Given the description of an element on the screen output the (x, y) to click on. 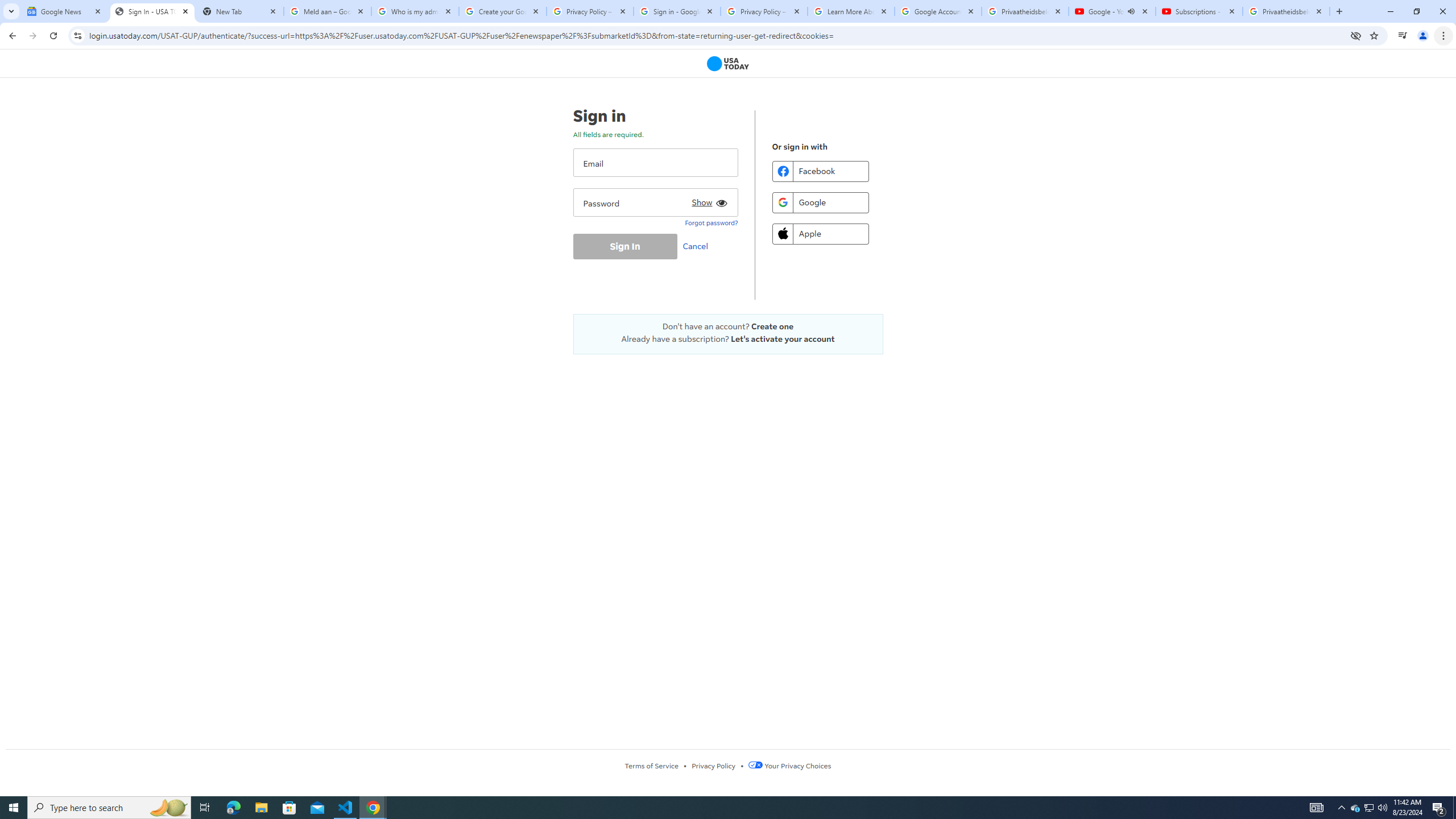
Sign In - USA TODAY (151, 11)
Cancel (697, 245)
Facebook (820, 170)
New Tab (239, 11)
USA TODAY (727, 64)
